Given the description of an element on the screen output the (x, y) to click on. 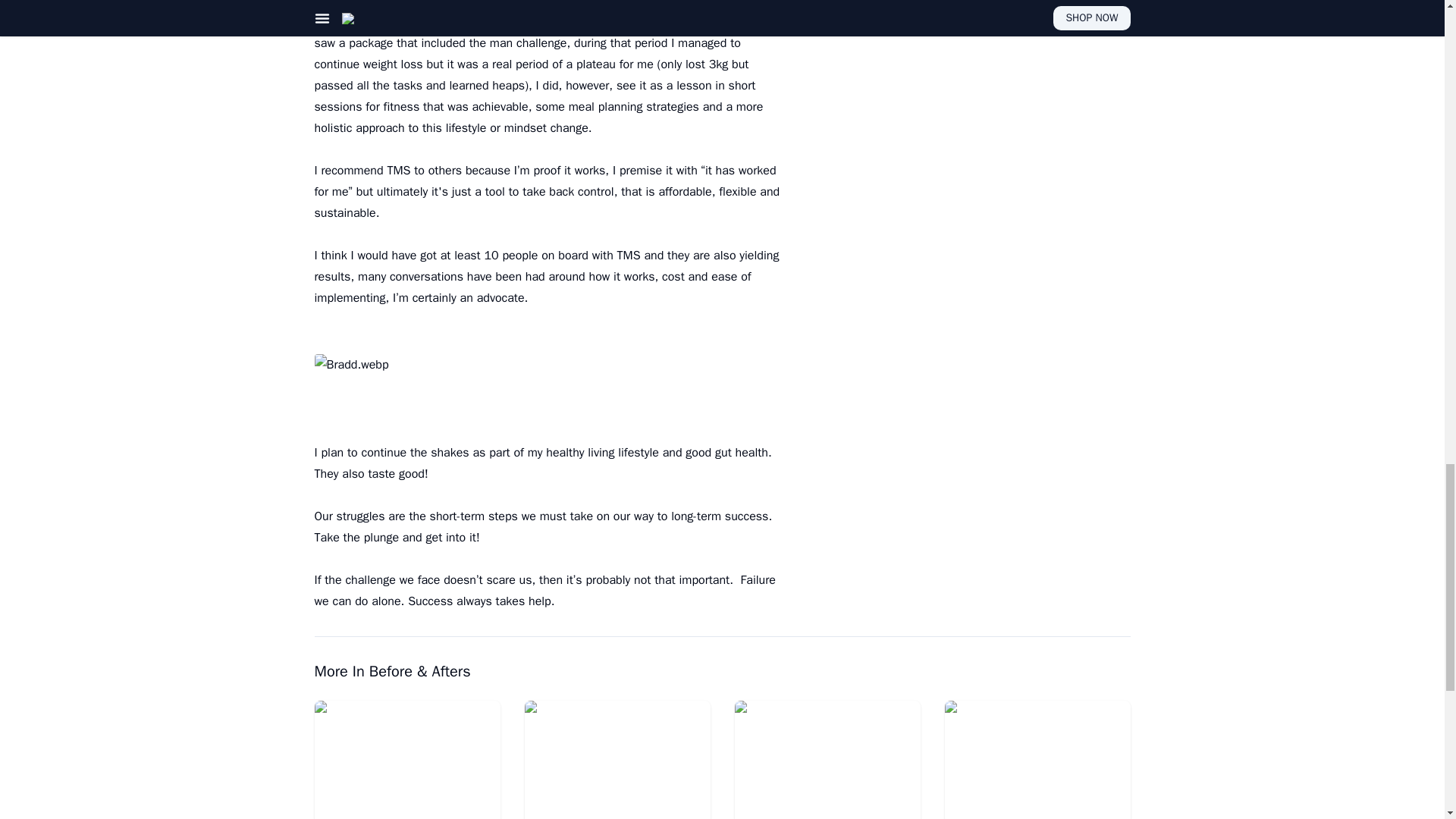
Jimmy Despised His 'Jiggle' And Dropped 28kg (1037, 760)
The East Ulverstone Crows Weight Loss Diary (617, 760)
Glenn Lost 40kg In 6 Months (826, 760)
Glenn Lost 40kg In 6 Months (826, 760)
Jimmy Despised His 'Jiggle' And Dropped 28kg (1037, 760)
The East Ulverstone Crows Weight Loss Diary (617, 760)
